Given the description of an element on the screen output the (x, y) to click on. 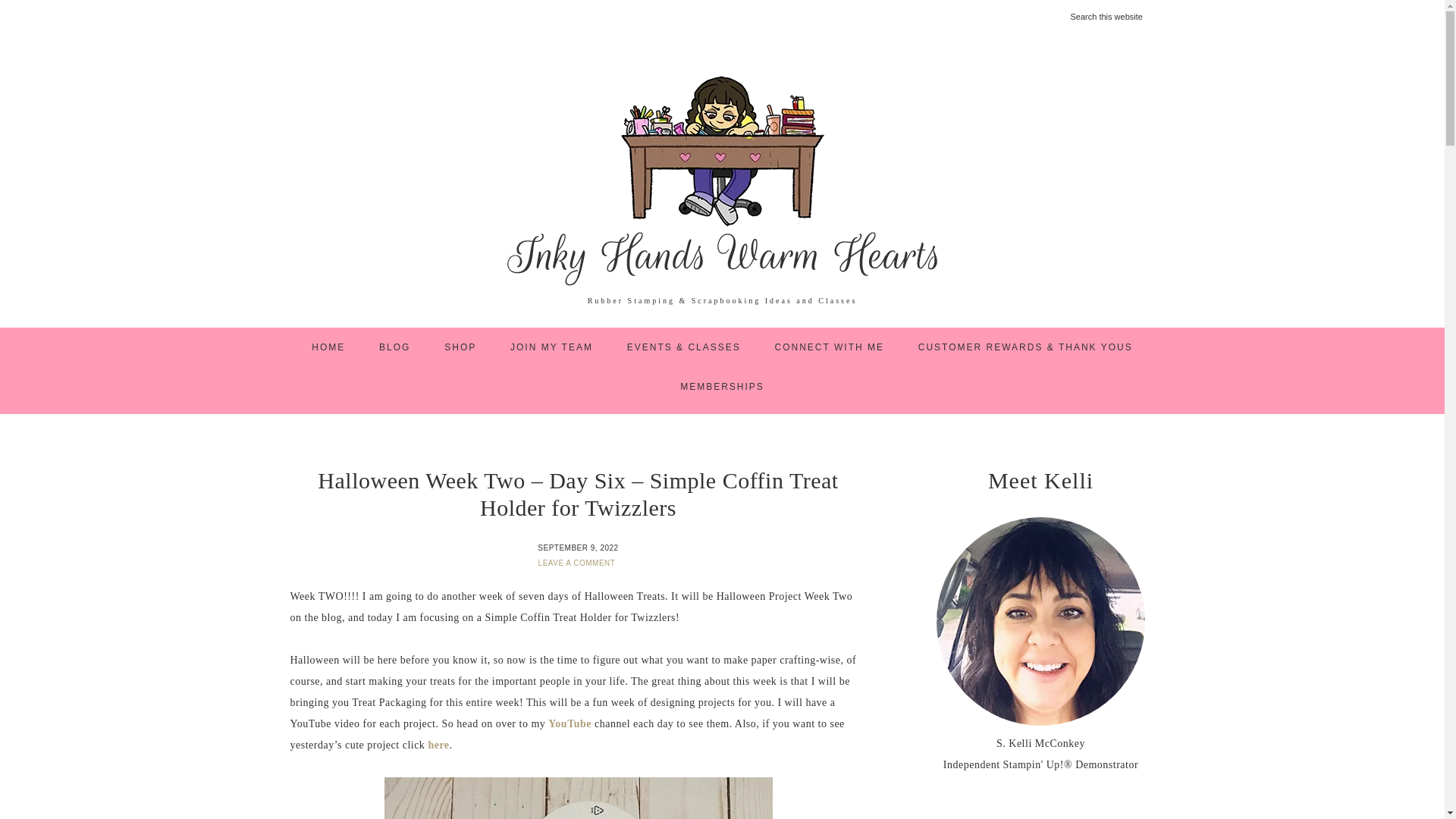
CONNECT WITH ME (829, 346)
LEAVE A COMMENT (578, 562)
SHOP (460, 346)
YouTube (569, 723)
MEMBERSHIPS (721, 386)
HOME (328, 346)
BLOG (394, 346)
JOIN MY TEAM (551, 346)
here (438, 745)
